Given the description of an element on the screen output the (x, y) to click on. 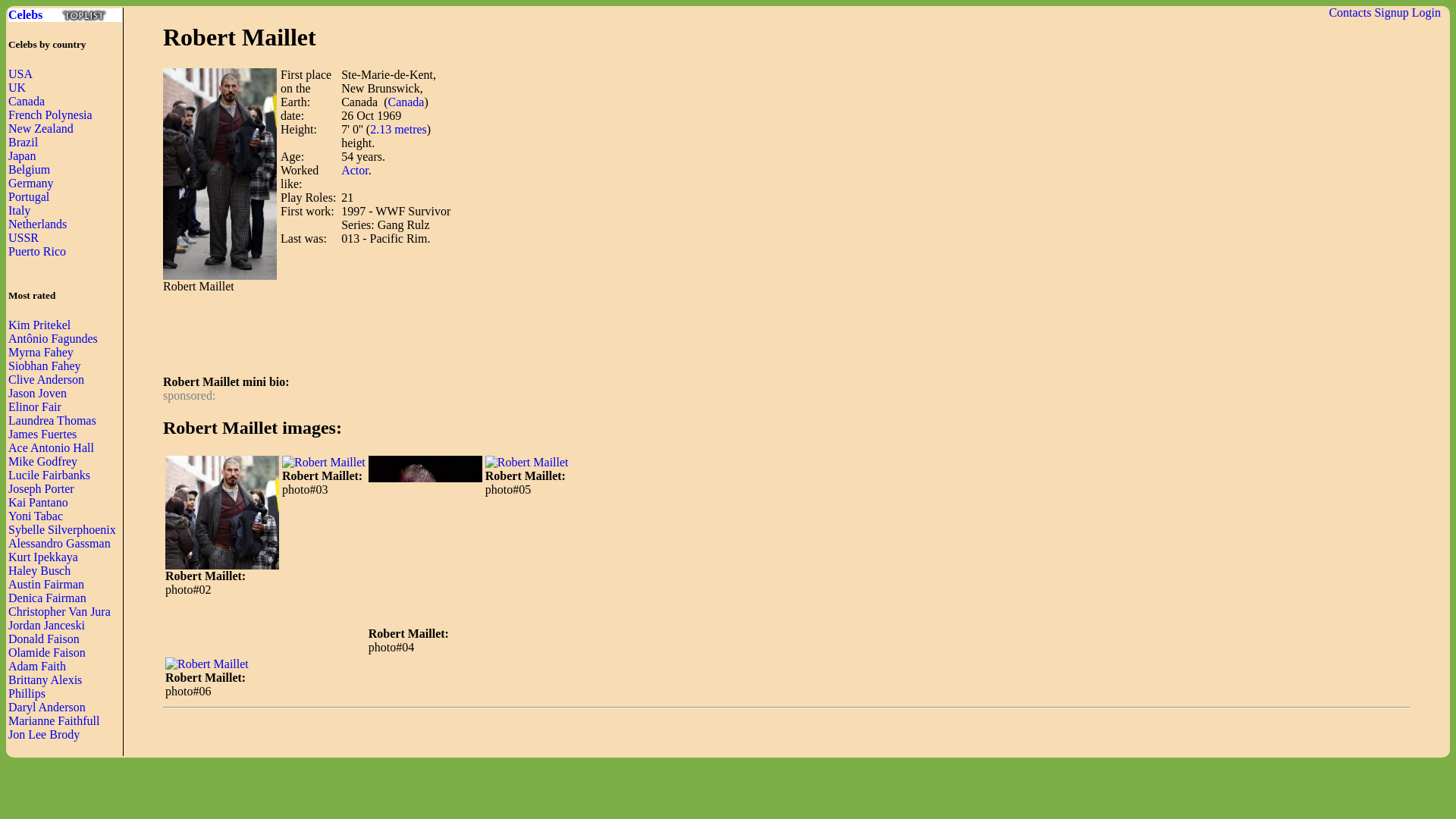
Robert Maillet (526, 462)
USA (20, 73)
Lucile Fairbanks (49, 474)
USSR (23, 237)
Joseph Porter (41, 488)
James Fuertes (42, 433)
New Zealand (41, 128)
USA (20, 73)
French Polynesia (50, 114)
Contacts (1349, 11)
Alessandro Gassman (59, 543)
Brazil (22, 141)
Kai Pantano (38, 502)
Canada (26, 101)
Sybelle Silverphoenix (62, 529)
